Given the description of an element on the screen output the (x, y) to click on. 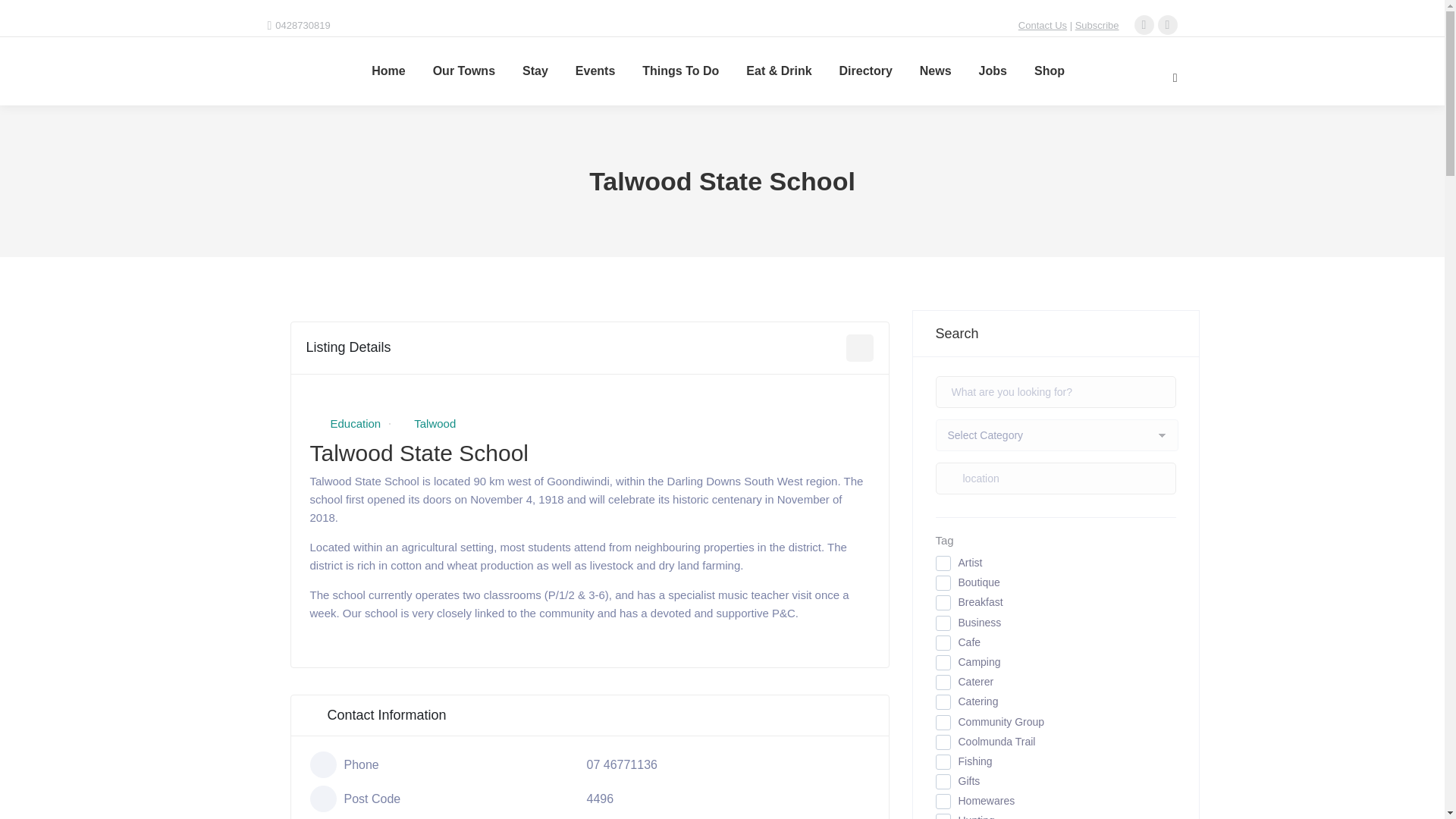
Instagram page opens in new window (1167, 25)
Home (387, 70)
Contact Us (1042, 25)
Our Towns (463, 70)
Instagram page opens in new window (1167, 25)
Things To Do (680, 70)
Facebook page opens in new window (1144, 25)
Events (594, 70)
Subscribe (1097, 25)
Facebook page opens in new window (1144, 25)
